Given the description of an element on the screen output the (x, y) to click on. 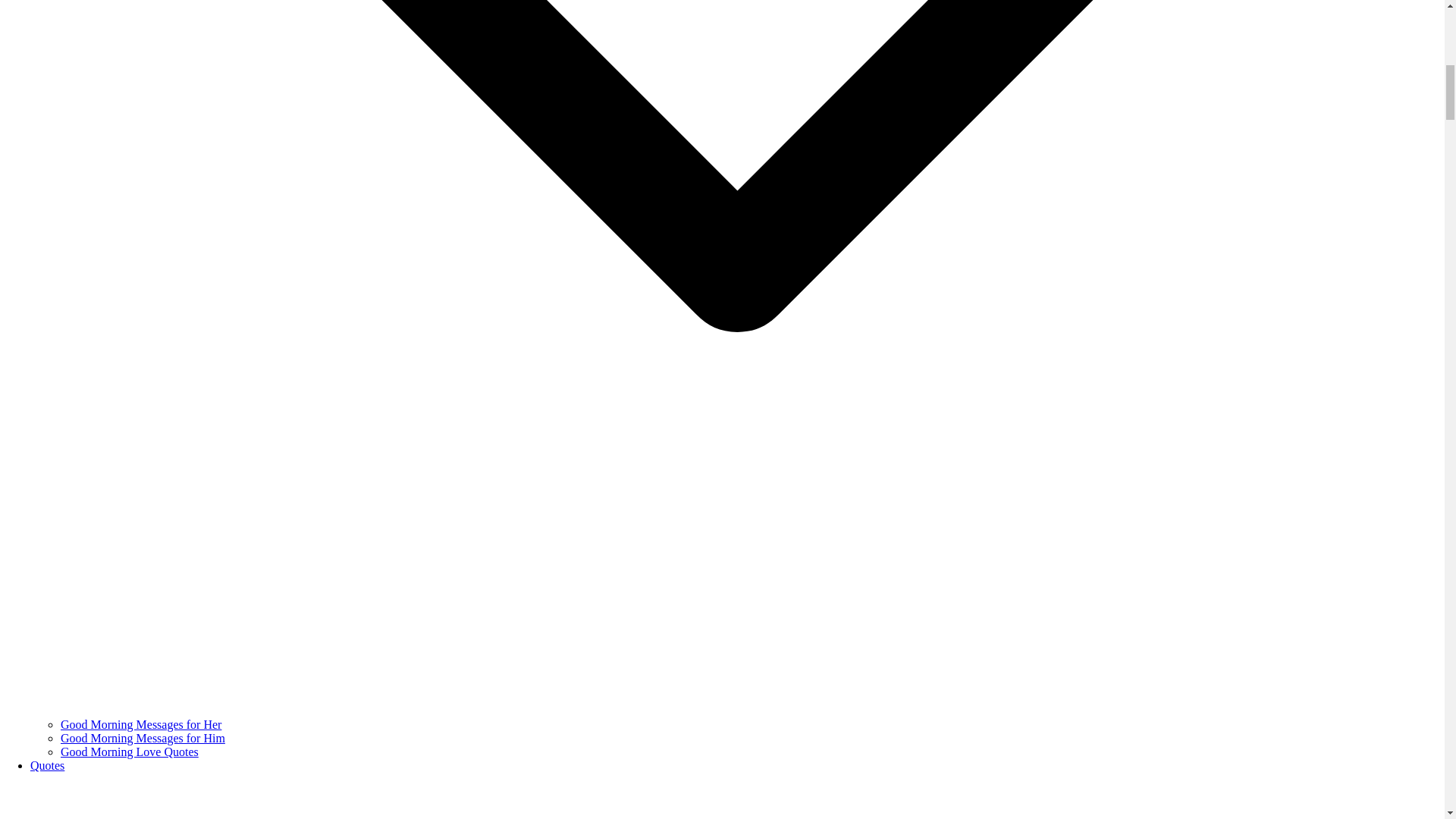
Quotes (47, 765)
Good Morning Messages for Him (143, 738)
Good Morning Messages for Her (141, 724)
Good Morning Love Quotes (129, 751)
